Given the description of an element on the screen output the (x, y) to click on. 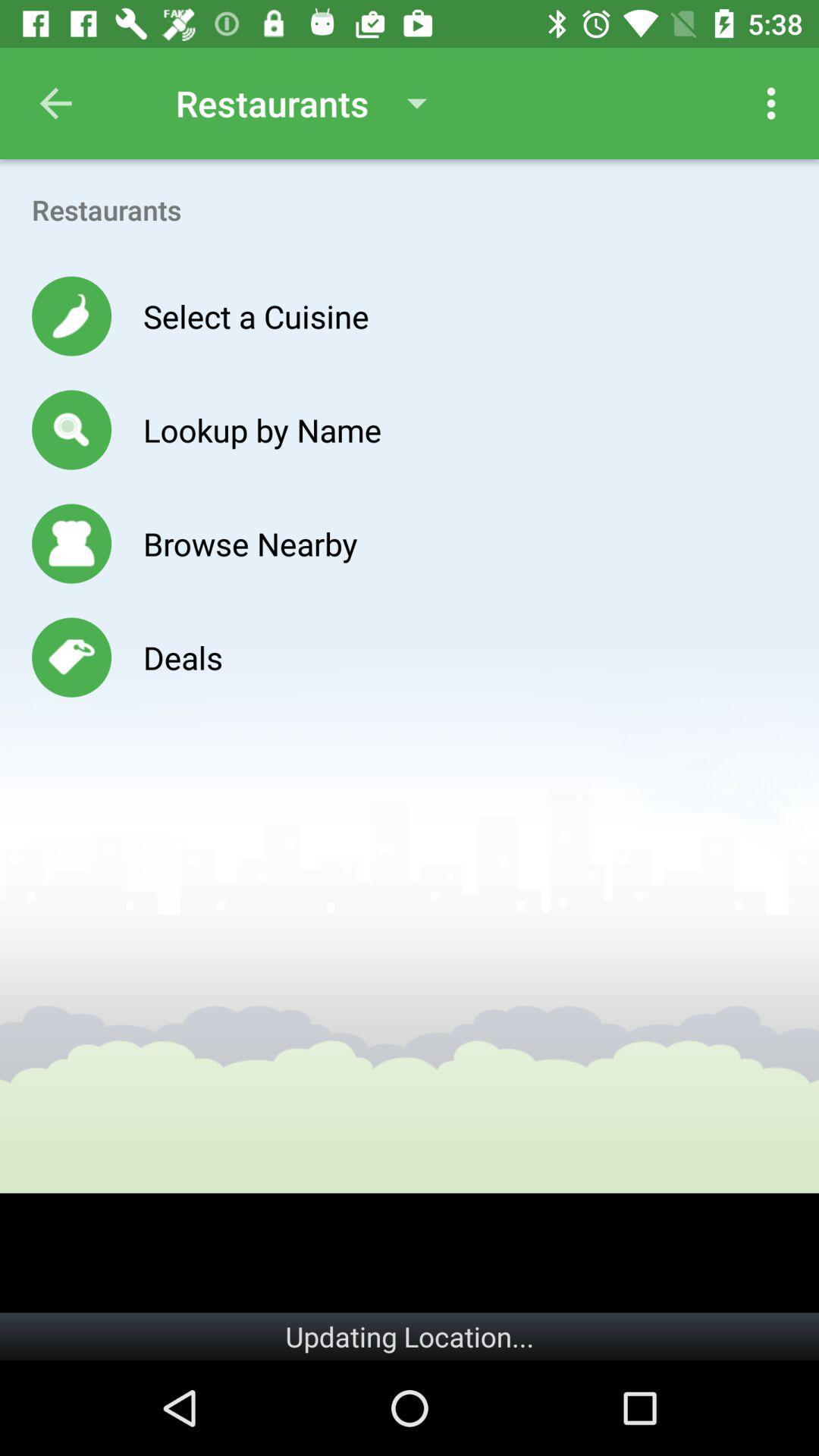
launch the item below the lookup by name icon (250, 543)
